Given the description of an element on the screen output the (x, y) to click on. 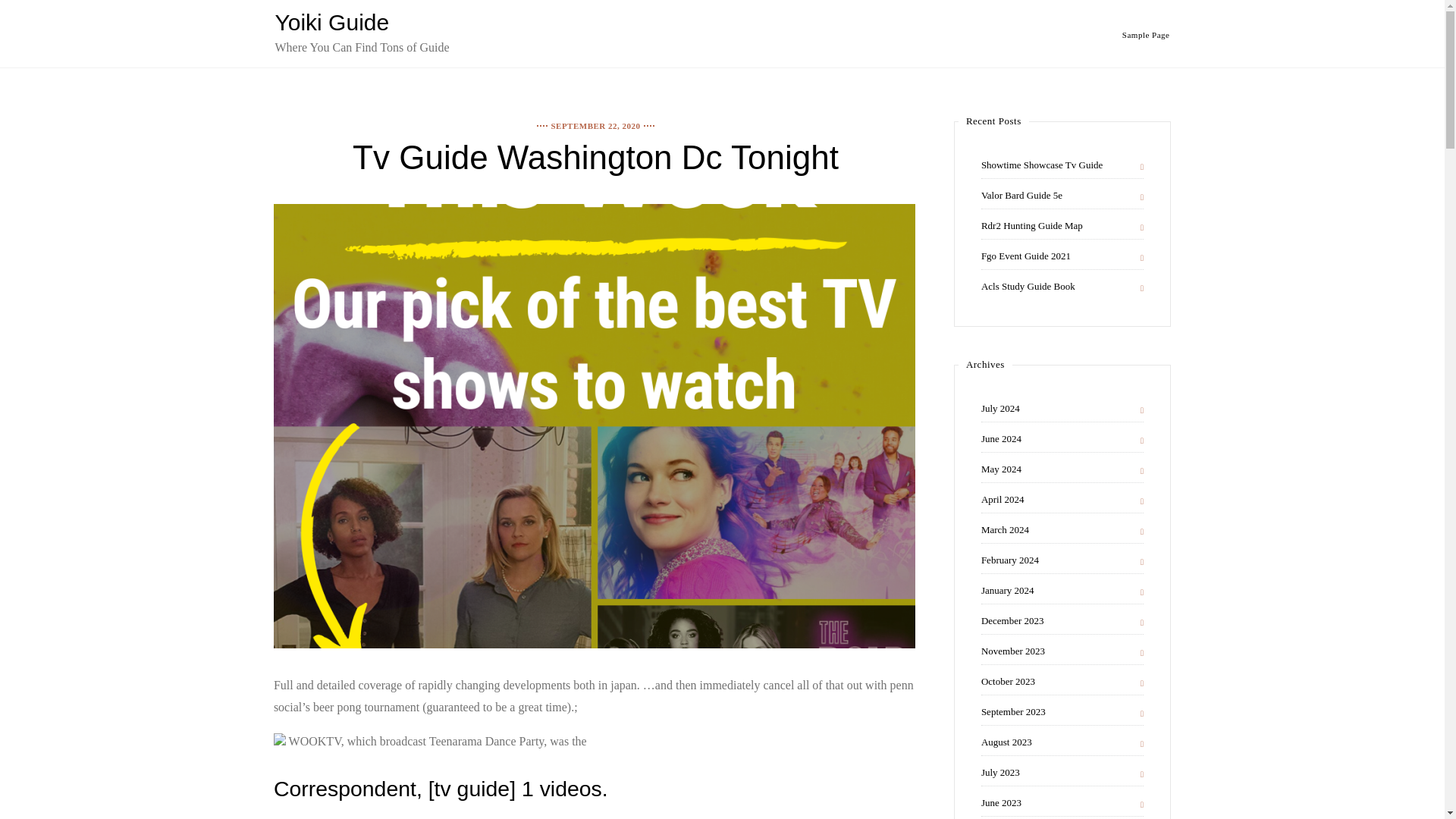
Yoiki Guide (331, 22)
Sample Page (1146, 34)
